Given the description of an element on the screen output the (x, y) to click on. 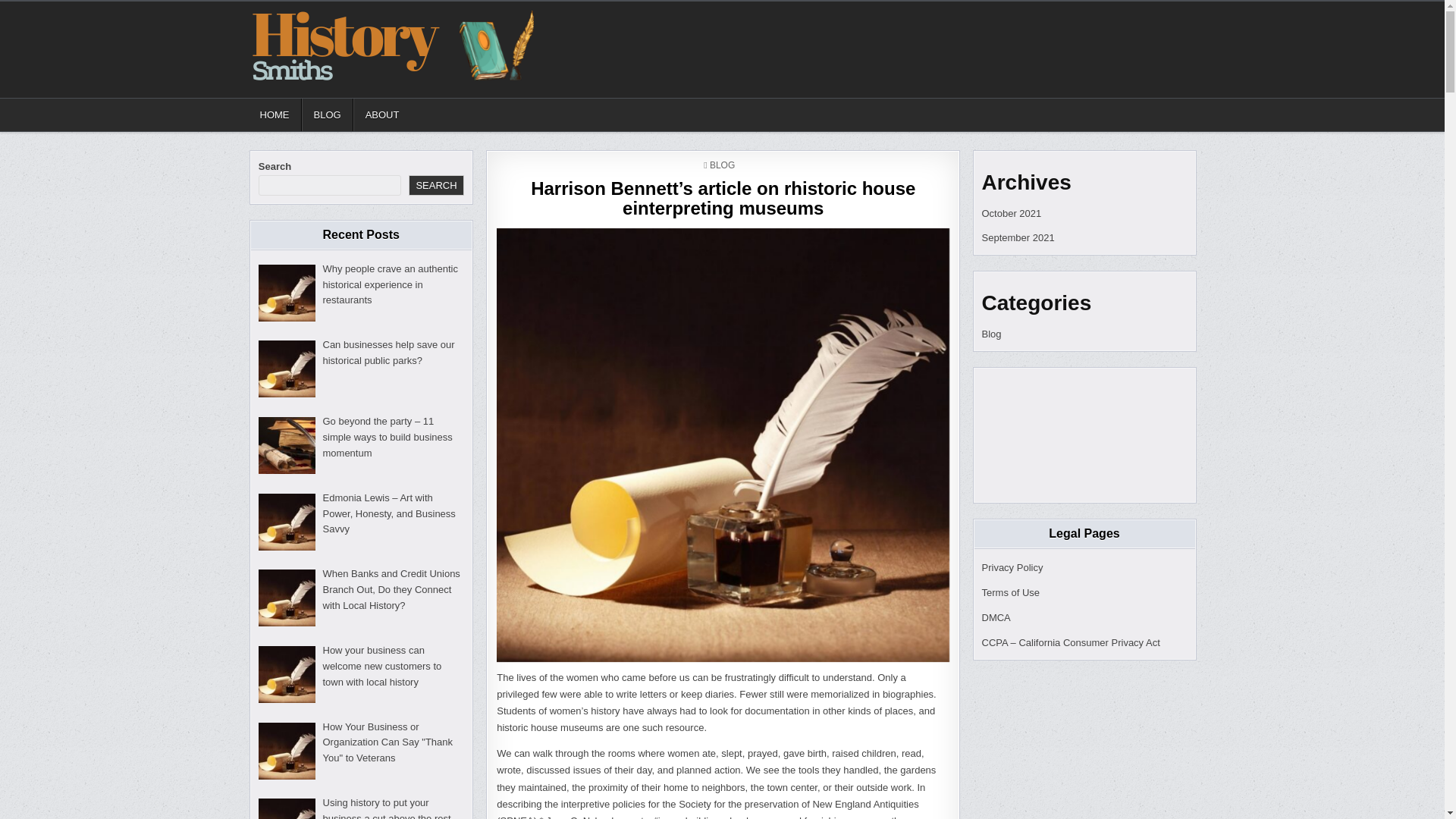
October 2021 (1011, 213)
Search (1179, 14)
BLOG (327, 114)
Terms of Use (1010, 592)
September 2021 (1017, 237)
History Smiths (307, 97)
Blog (991, 333)
Privacy Policy (1011, 567)
SEARCH (436, 185)
HOME (274, 114)
DMCA (995, 617)
Can businesses help save our historical public parks? (388, 352)
